Given the description of an element on the screen output the (x, y) to click on. 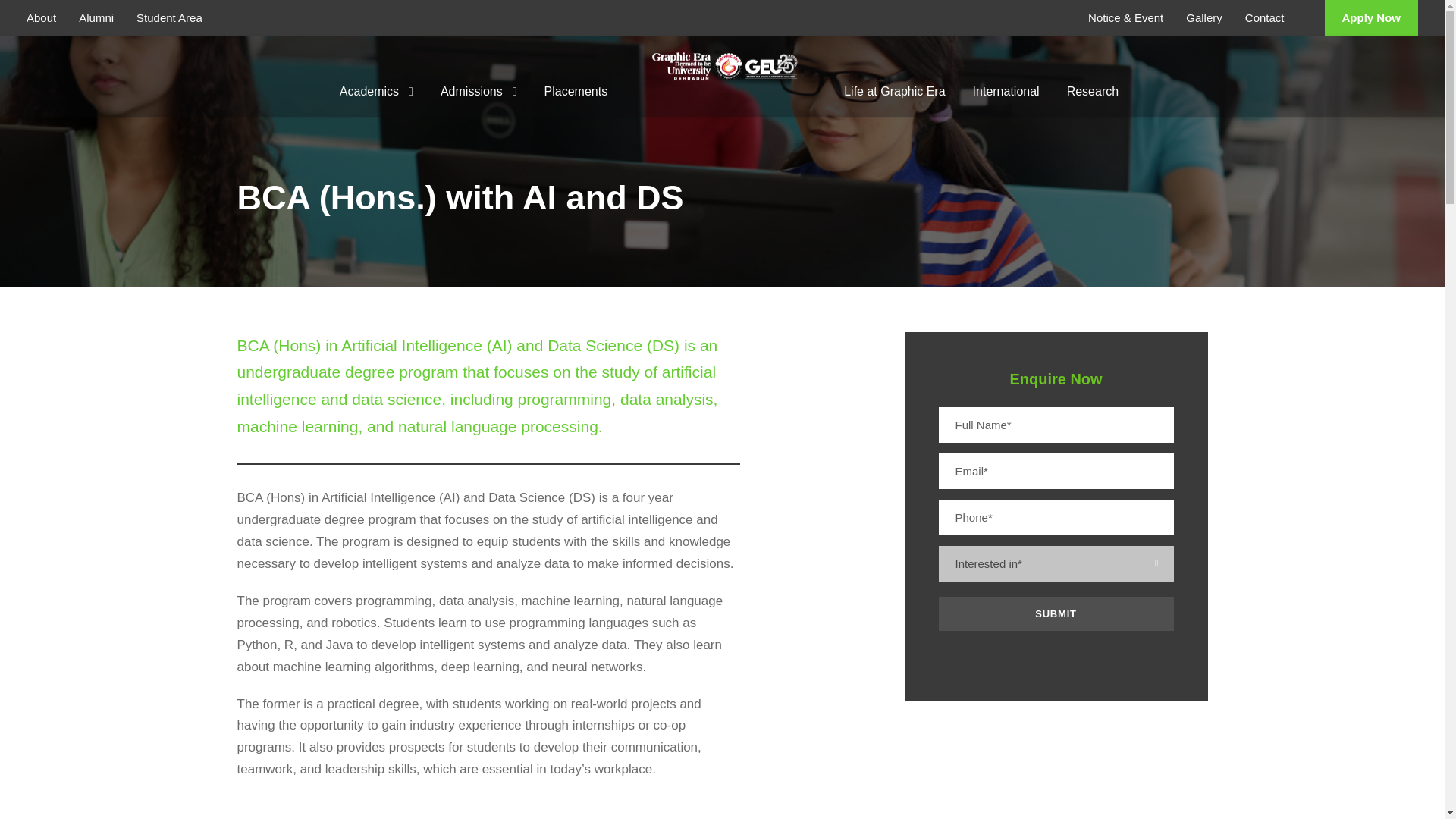
About (41, 17)
Contact (1264, 17)
Admissions (478, 82)
Academics (376, 82)
Placements (576, 82)
Gallery (1204, 17)
Student Area (169, 17)
Apply Now (1370, 18)
Submit (1056, 613)
International (1005, 82)
Alumni (95, 17)
Submit (1056, 613)
geu-logo (725, 65)
Life at Graphic Era (894, 82)
